Given the description of an element on the screen output the (x, y) to click on. 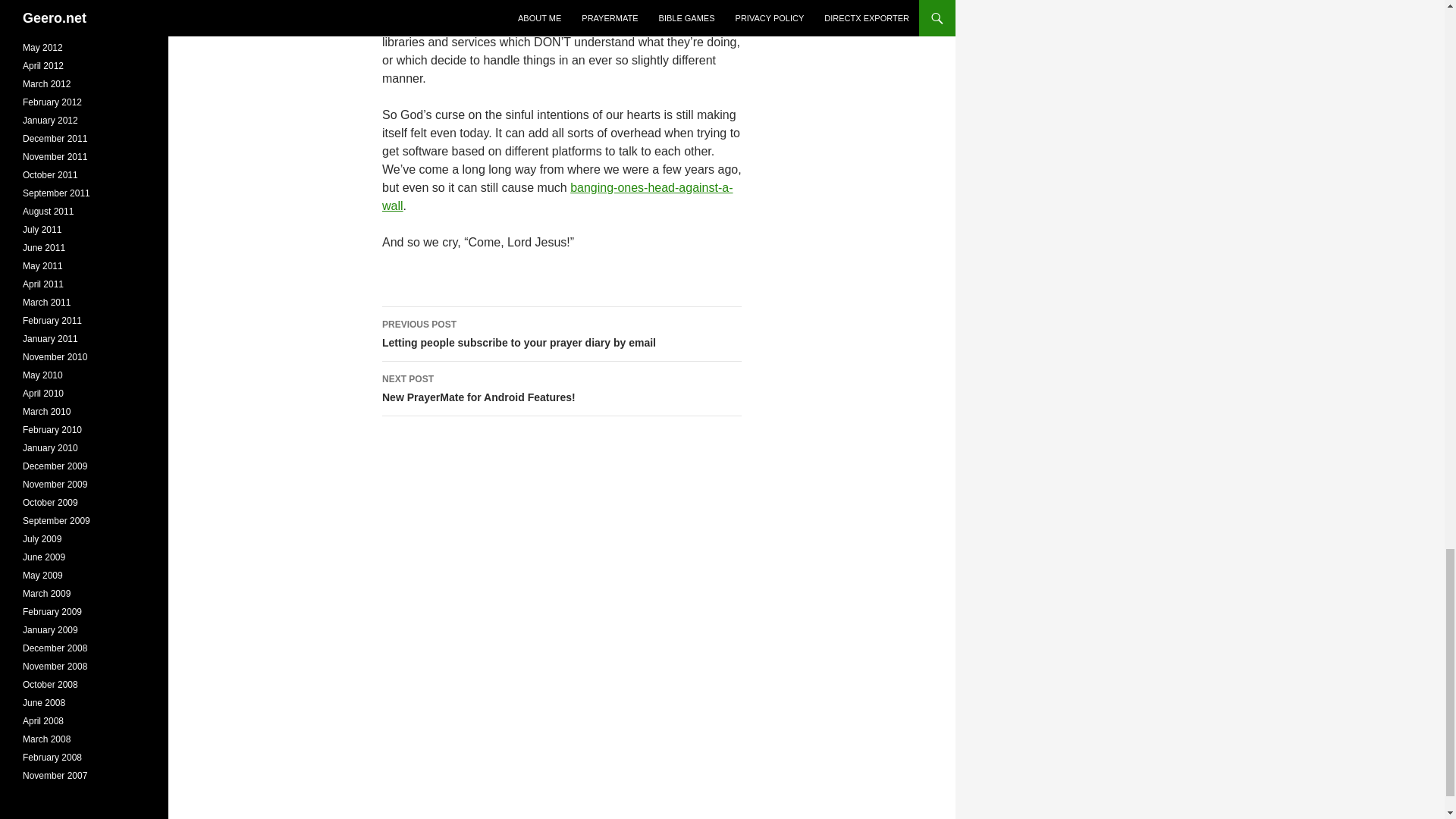
banging-ones-head-against-a-wall (561, 388)
